Given the description of an element on the screen output the (x, y) to click on. 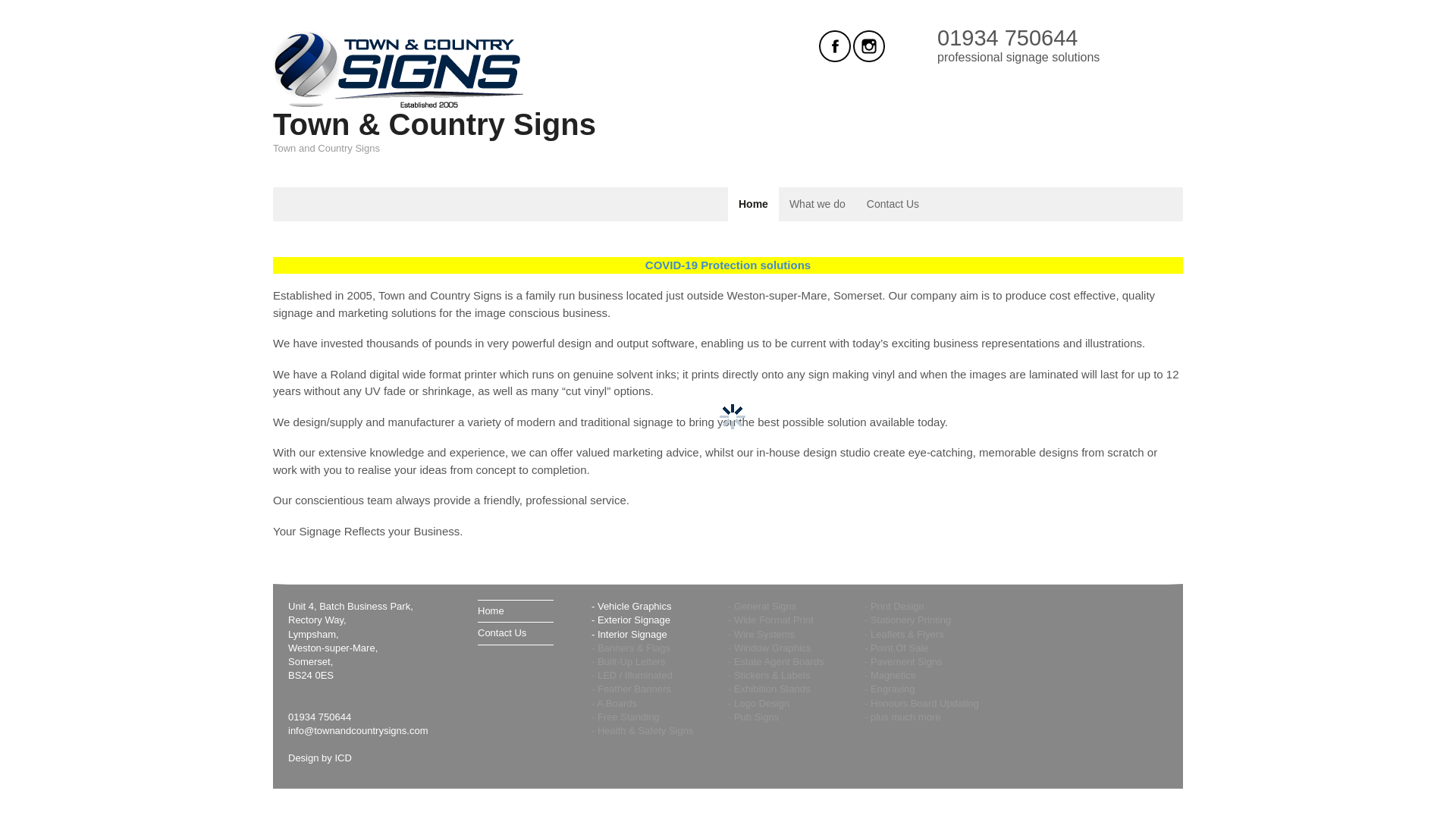
Town and Country Signs (398, 101)
Home (515, 611)
Design by ICD (320, 757)
What we do (817, 204)
Contact Us (893, 204)
- Interior Signage (628, 633)
COVID-19 Protection solutions (727, 264)
Home (753, 204)
- Exterior Signage (630, 619)
Contact Us (515, 633)
